Given the description of an element on the screen output the (x, y) to click on. 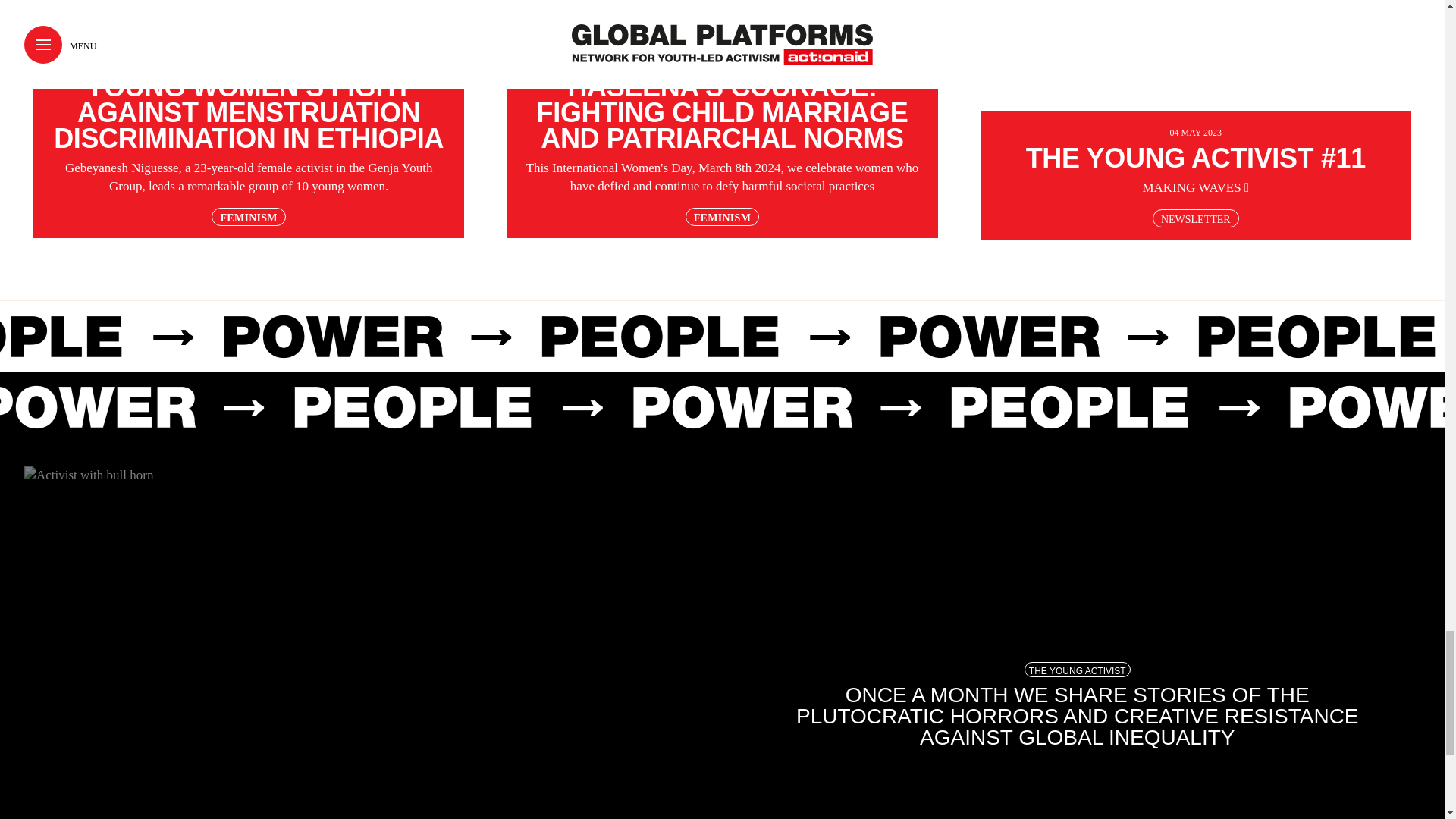
NEWSLETTER (1196, 218)
FEMINISM (721, 217)
FEMINISM (248, 217)
